Given the description of an element on the screen output the (x, y) to click on. 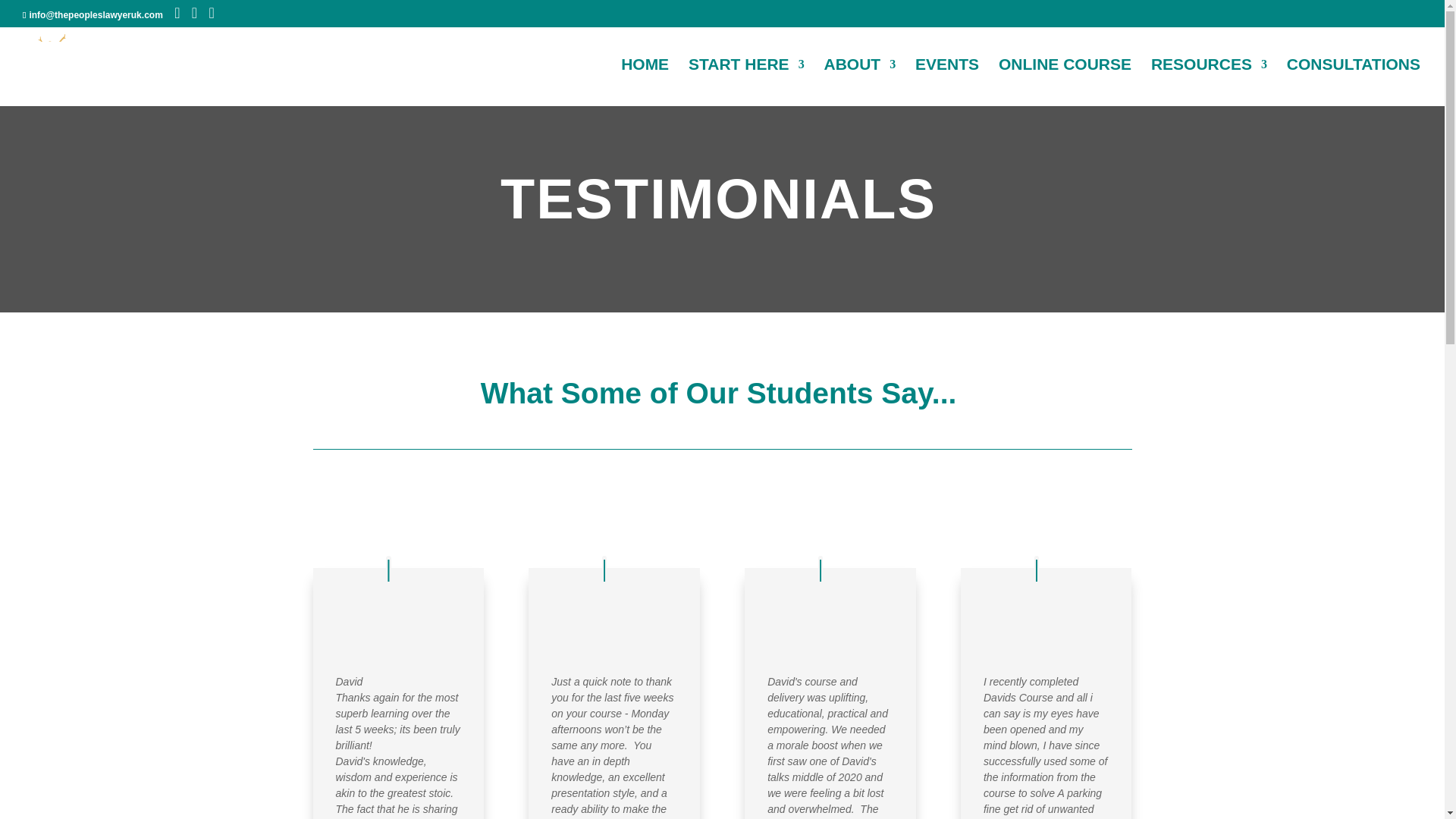
EVENTS (946, 82)
HOME (644, 82)
ABOUT (860, 82)
ONLINE COURSE (1064, 82)
RESOURCES (1208, 82)
START HERE (746, 82)
